Given the description of an element on the screen output the (x, y) to click on. 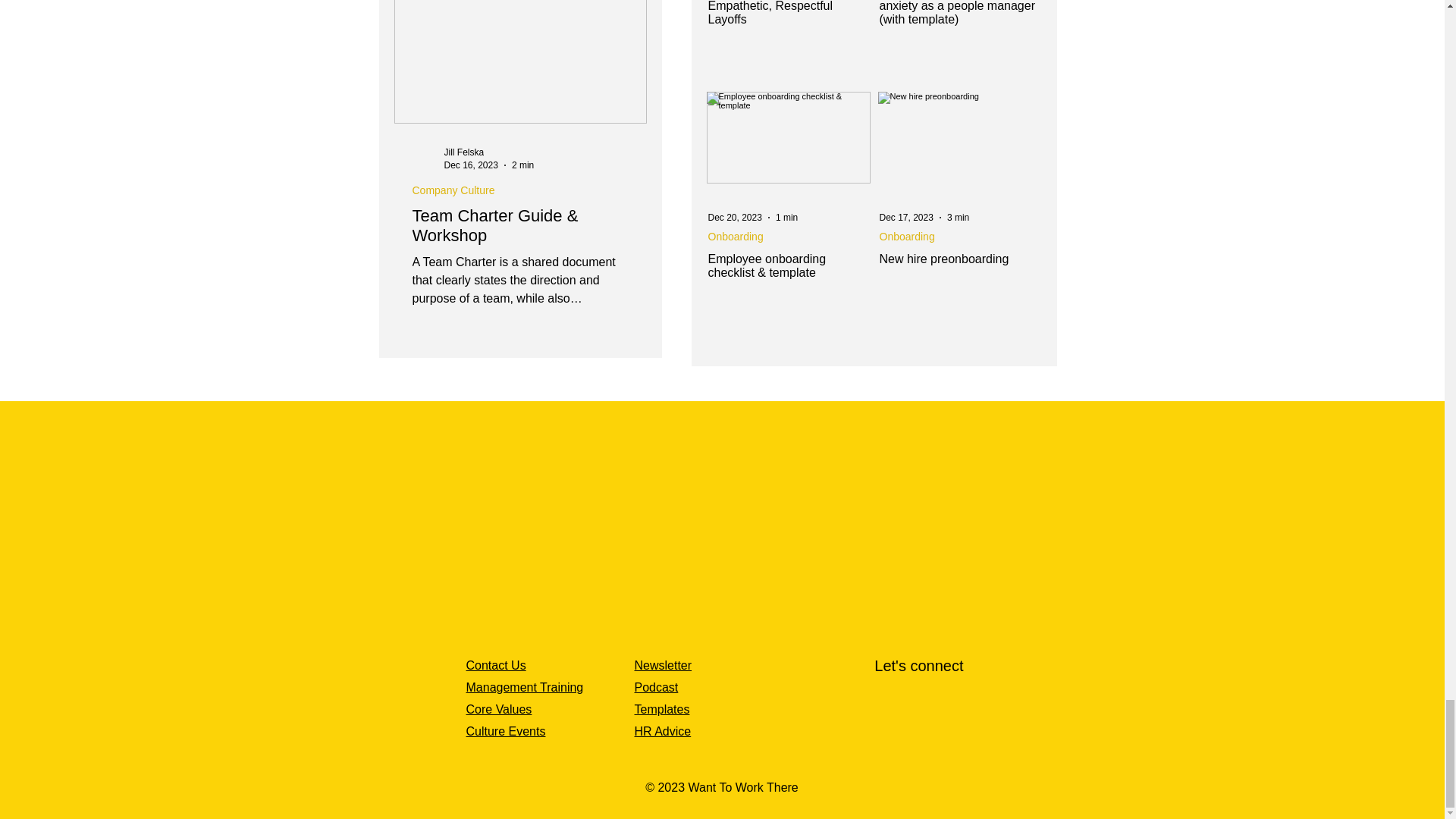
Dec 17, 2023 (906, 217)
Dec 20, 2023 (734, 217)
1 min (786, 217)
3 min (958, 217)
2 min (523, 164)
Dec 16, 2023 (470, 164)
Jill Felska (464, 152)
